Given the description of an element on the screen output the (x, y) to click on. 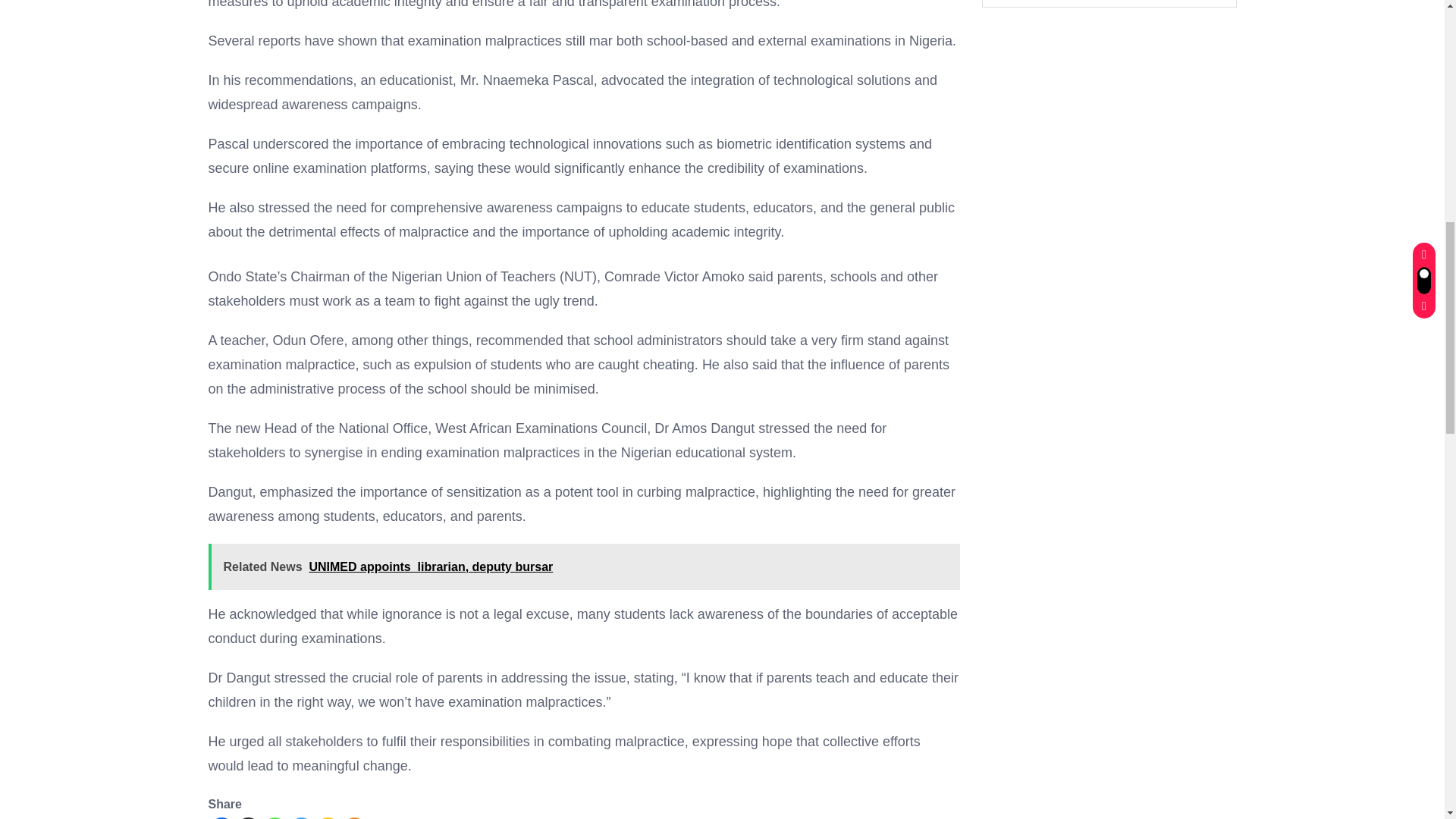
More (354, 818)
Copy Link (327, 818)
Telegram (301, 818)
X (247, 818)
Whatsapp (273, 818)
Facebook (220, 818)
